Given the description of an element on the screen output the (x, y) to click on. 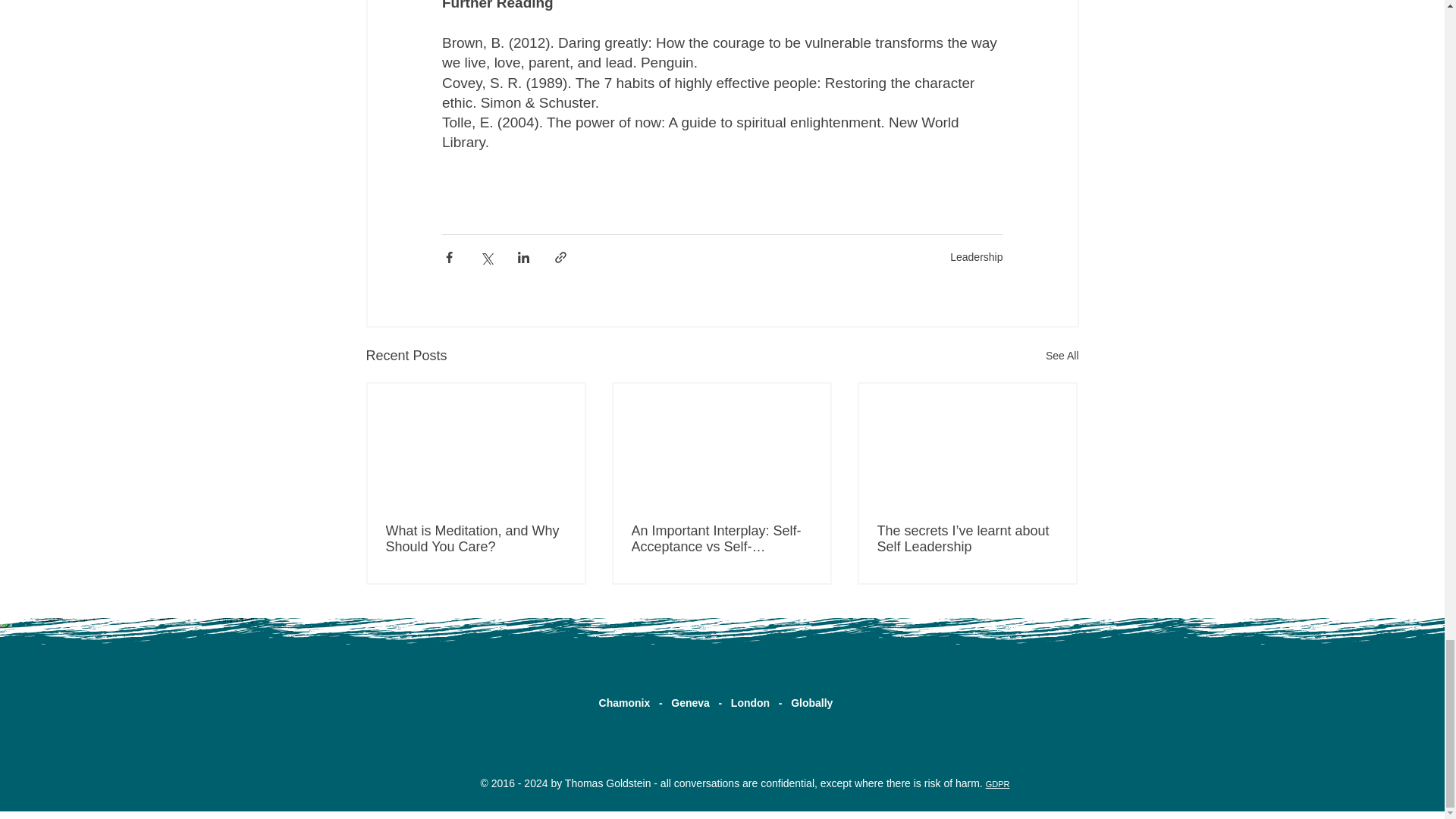
See All (1061, 355)
An Important Interplay: Self-Acceptance vs Self-Improvement (720, 539)
Leadership (976, 256)
What is Meditation, and Why Should You Care? (475, 539)
